Given the description of an element on the screen output the (x, y) to click on. 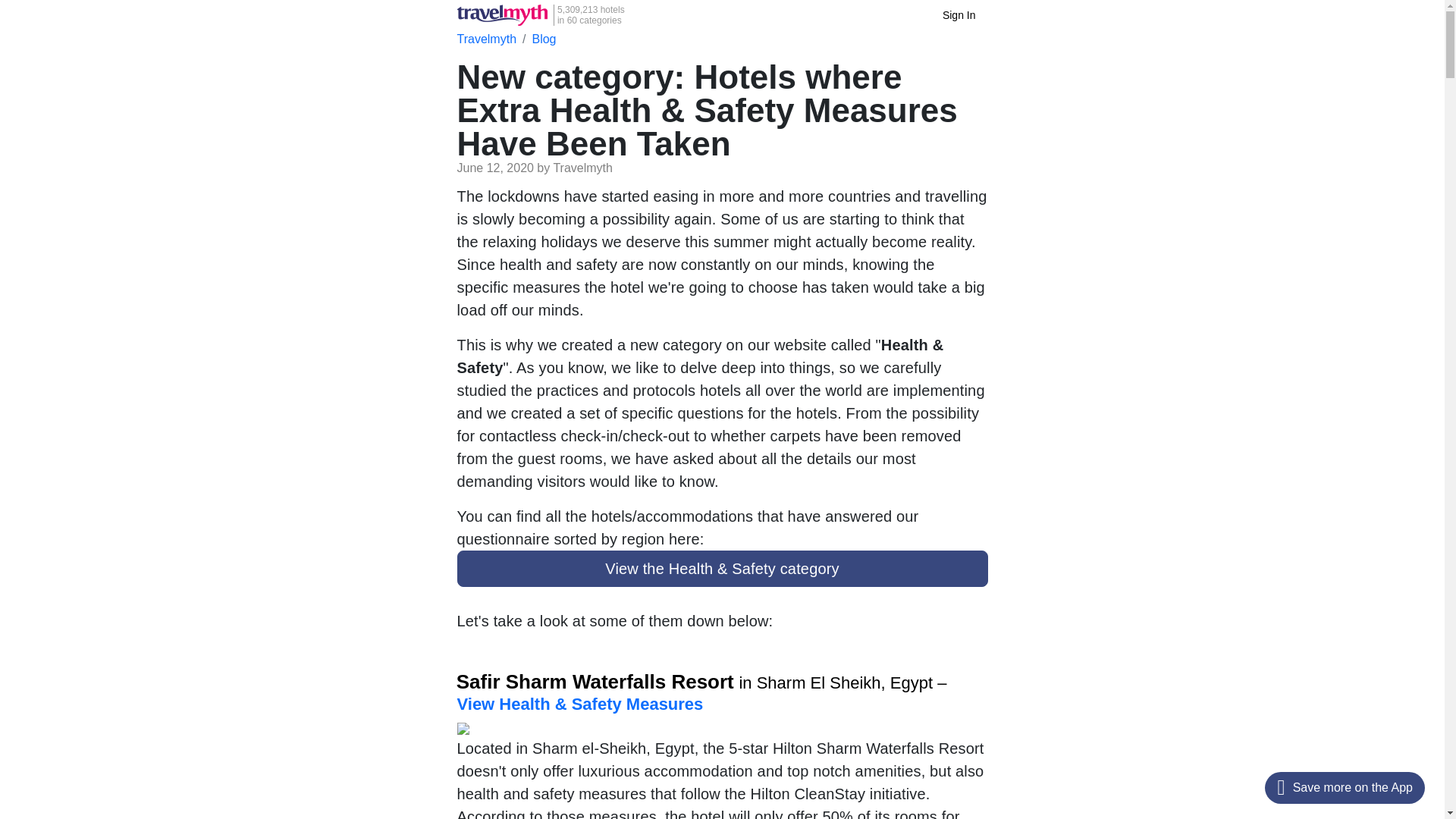
Save more on the App (1345, 787)
Blog (540, 14)
Sign In (543, 38)
Travelmyth (958, 15)
